Given the description of an element on the screen output the (x, y) to click on. 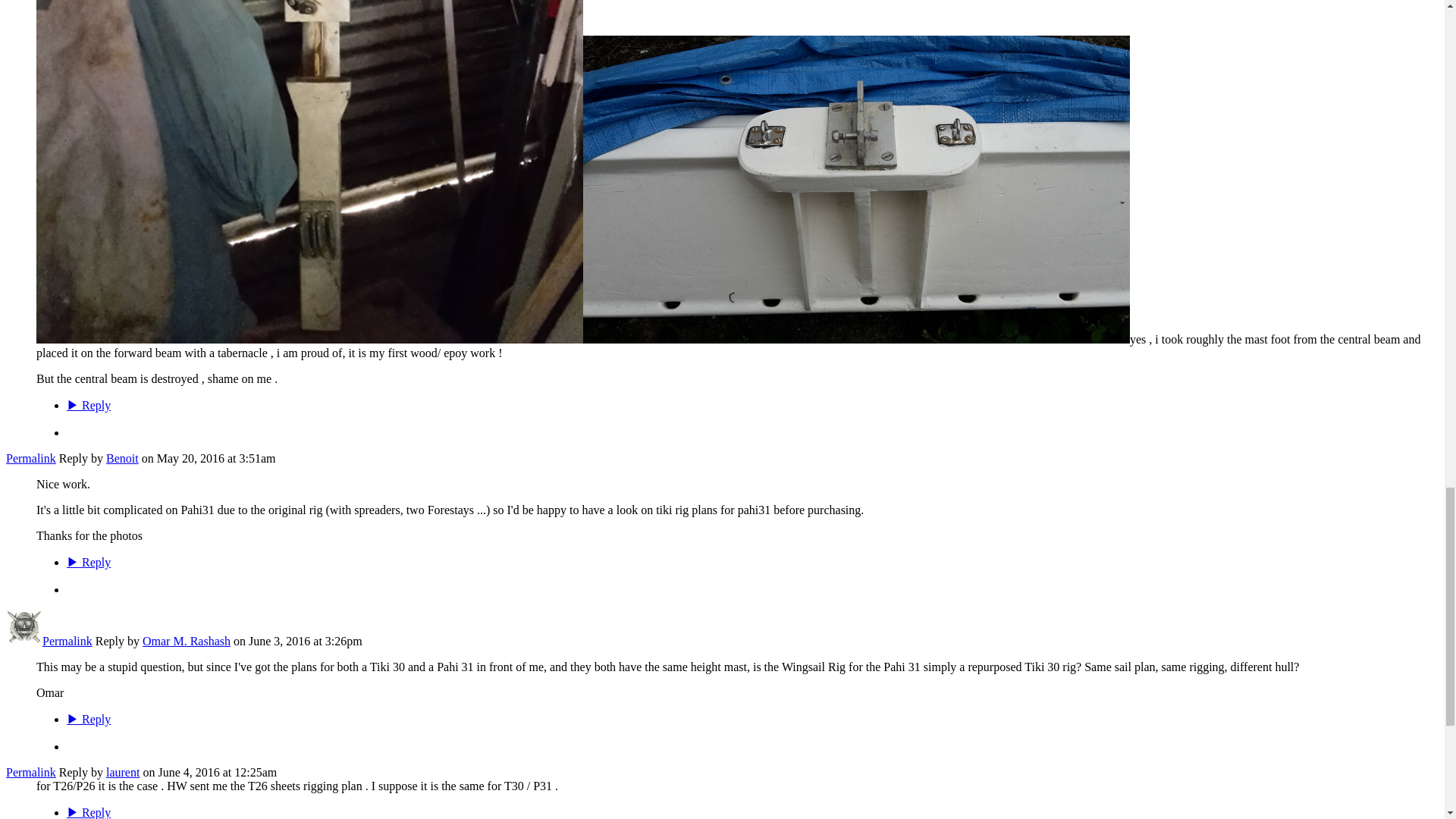
Permalink to this Reply (30, 771)
Permalink to this Reply (67, 640)
Omar M. Rashash (23, 640)
Permalink to this Reply (30, 458)
